Given the description of an element on the screen output the (x, y) to click on. 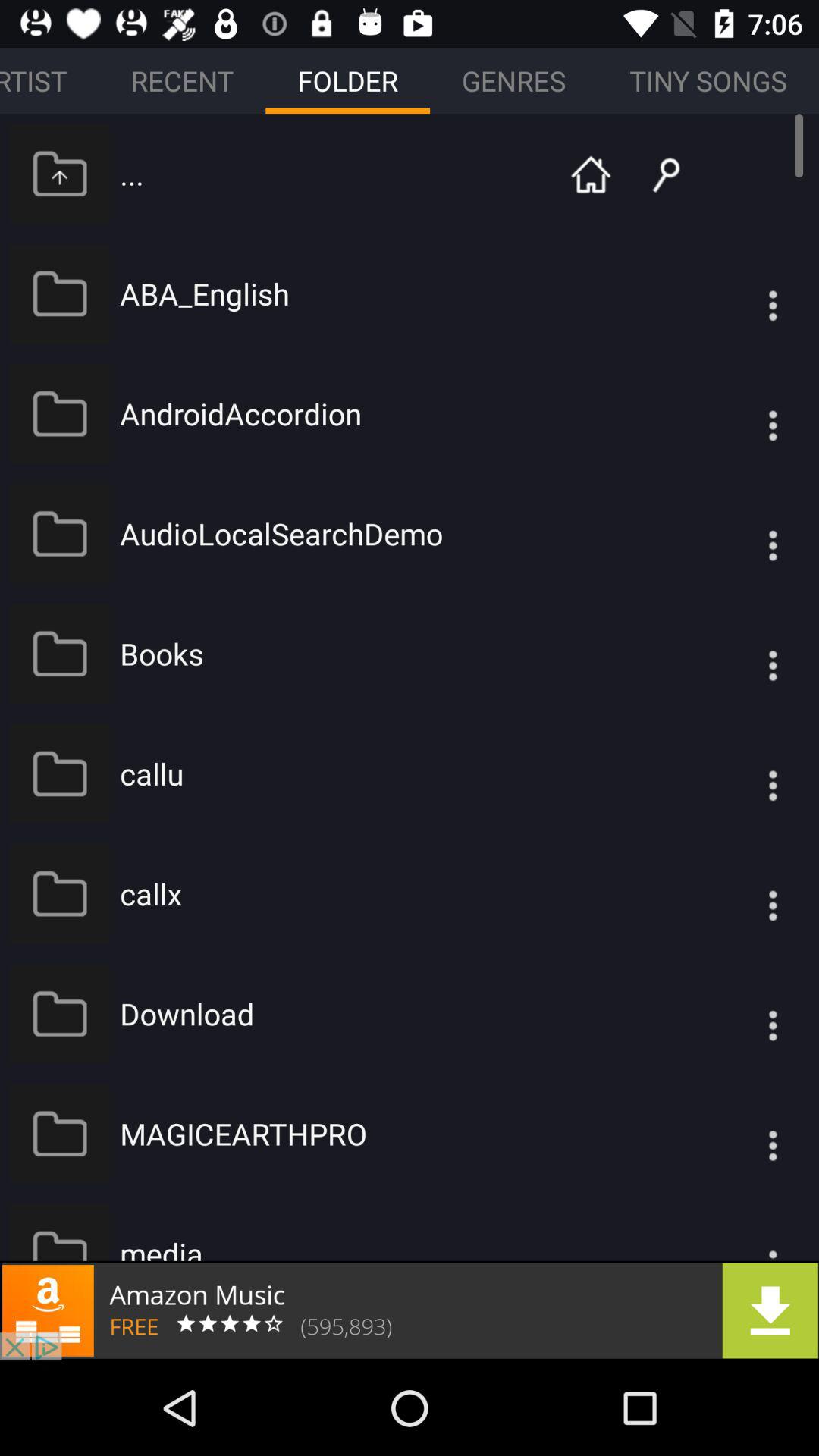
see more options (742, 533)
